Given the description of an element on the screen output the (x, y) to click on. 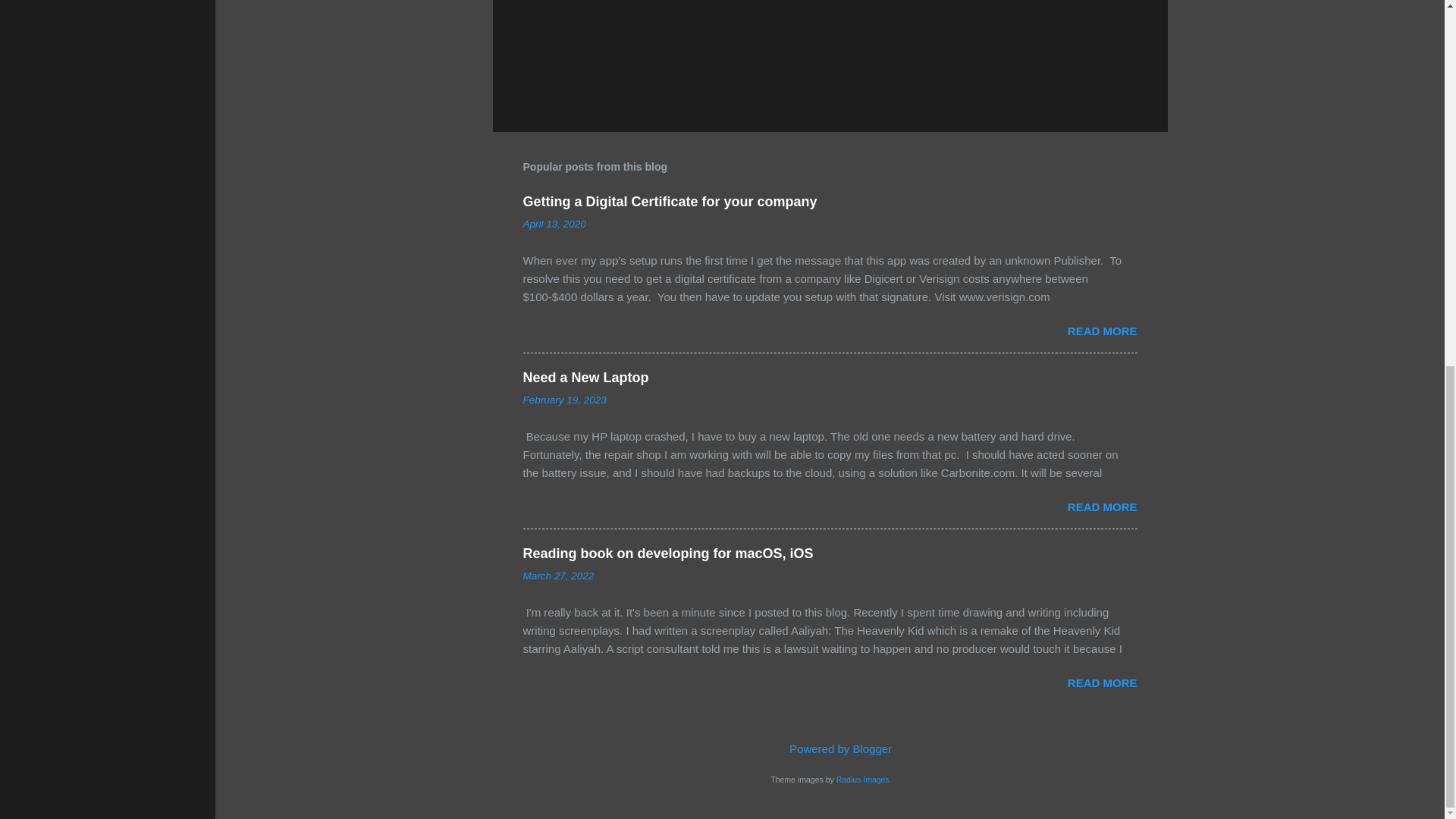
Radius Images (862, 778)
permanent link (554, 224)
Getting a Digital Certificate for your company (669, 201)
READ MORE (1102, 506)
Reading book on developing for macOS, iOS (667, 553)
February 19, 2023 (564, 399)
READ MORE (1102, 682)
READ MORE (1102, 330)
Need a New Laptop (585, 377)
March 27, 2022 (558, 575)
April 13, 2020 (554, 224)
Powered by Blogger (829, 748)
